Given the description of an element on the screen output the (x, y) to click on. 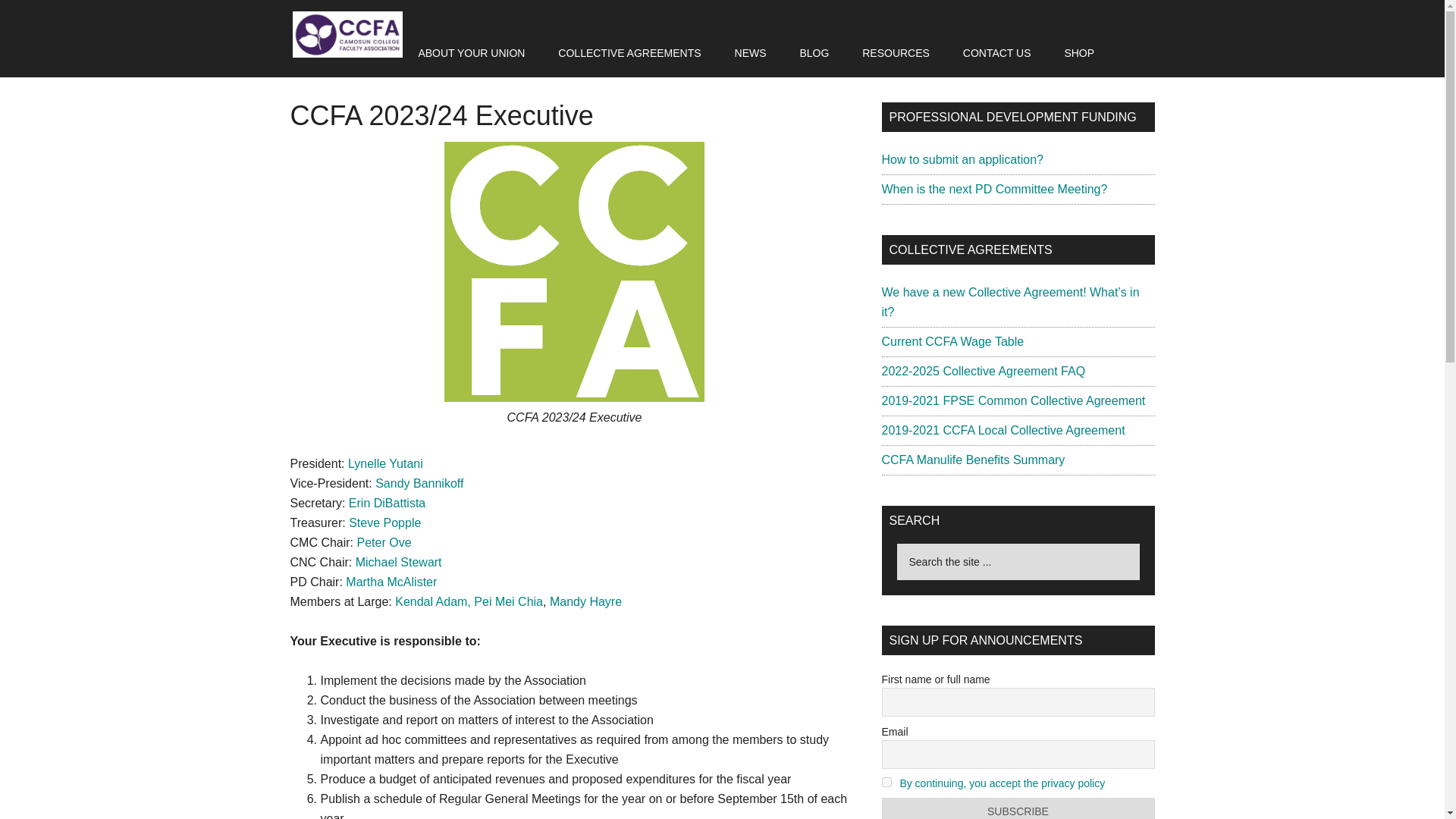
on (885, 782)
RESOURCES (895, 52)
BLOG (814, 52)
Subscribe (1017, 808)
COLLECTIVE AGREEMENTS (629, 52)
ABOUT YOUR UNION (471, 52)
NEWS (750, 52)
